Given the description of an element on the screen output the (x, y) to click on. 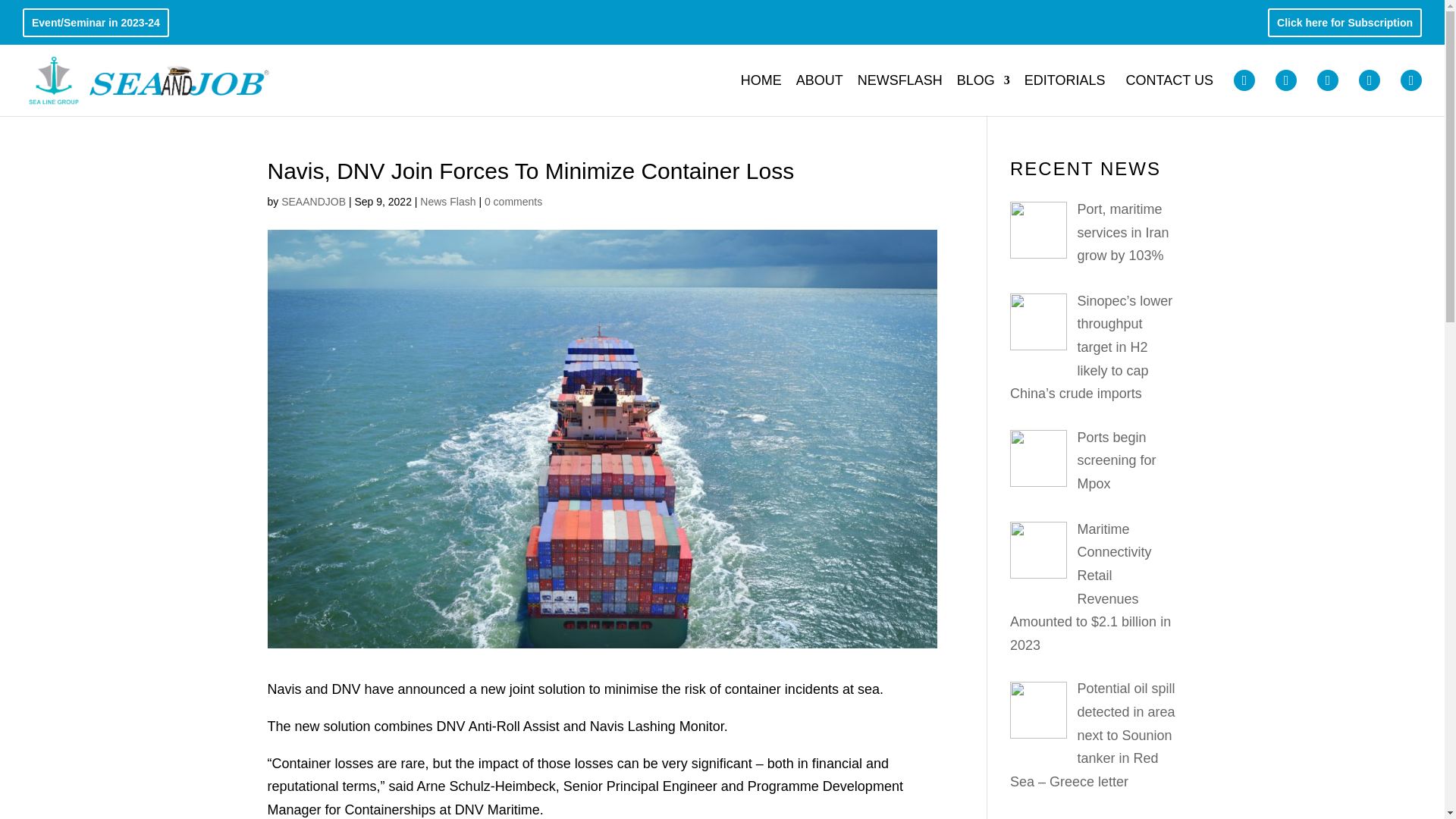
Click here for Subscription (1344, 26)
HOME (761, 92)
Posts by SEAANDJOB (313, 201)
NEWSFLASH (899, 92)
ABOUT (819, 92)
CONTACT US (1168, 92)
Ports begin screening for Mpox (1116, 460)
BLOG (983, 92)
EDITORIALS (1065, 92)
SEAANDJOB (313, 201)
